Given the description of an element on the screen output the (x, y) to click on. 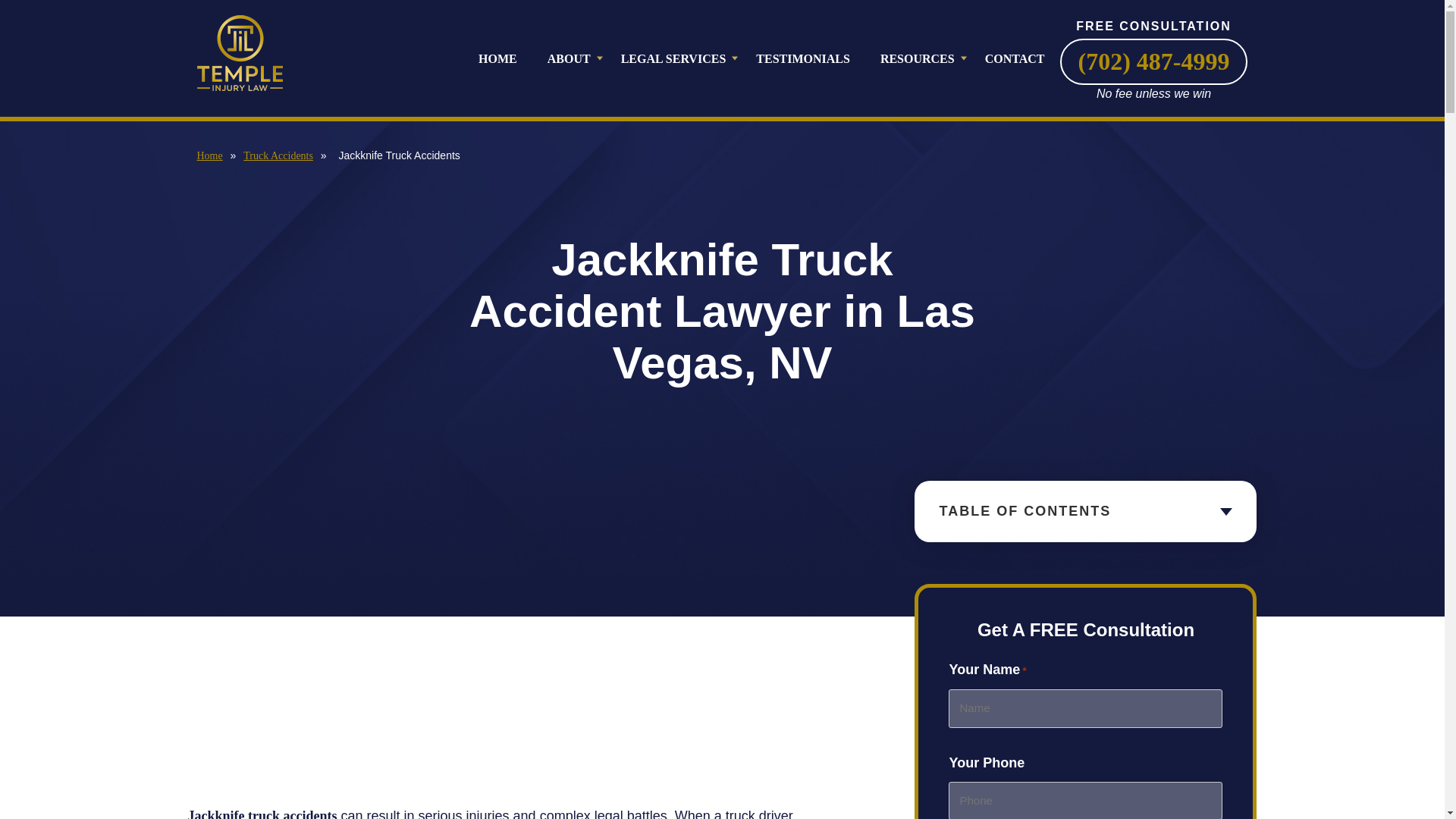
Home (209, 155)
TESTIMONIALS (802, 57)
HOME (505, 57)
LEGAL SERVICES (673, 57)
CONTACT (1014, 57)
Truck Accidents (278, 155)
ABOUT (568, 57)
RESOURCES (916, 57)
